Given the description of an element on the screen output the (x, y) to click on. 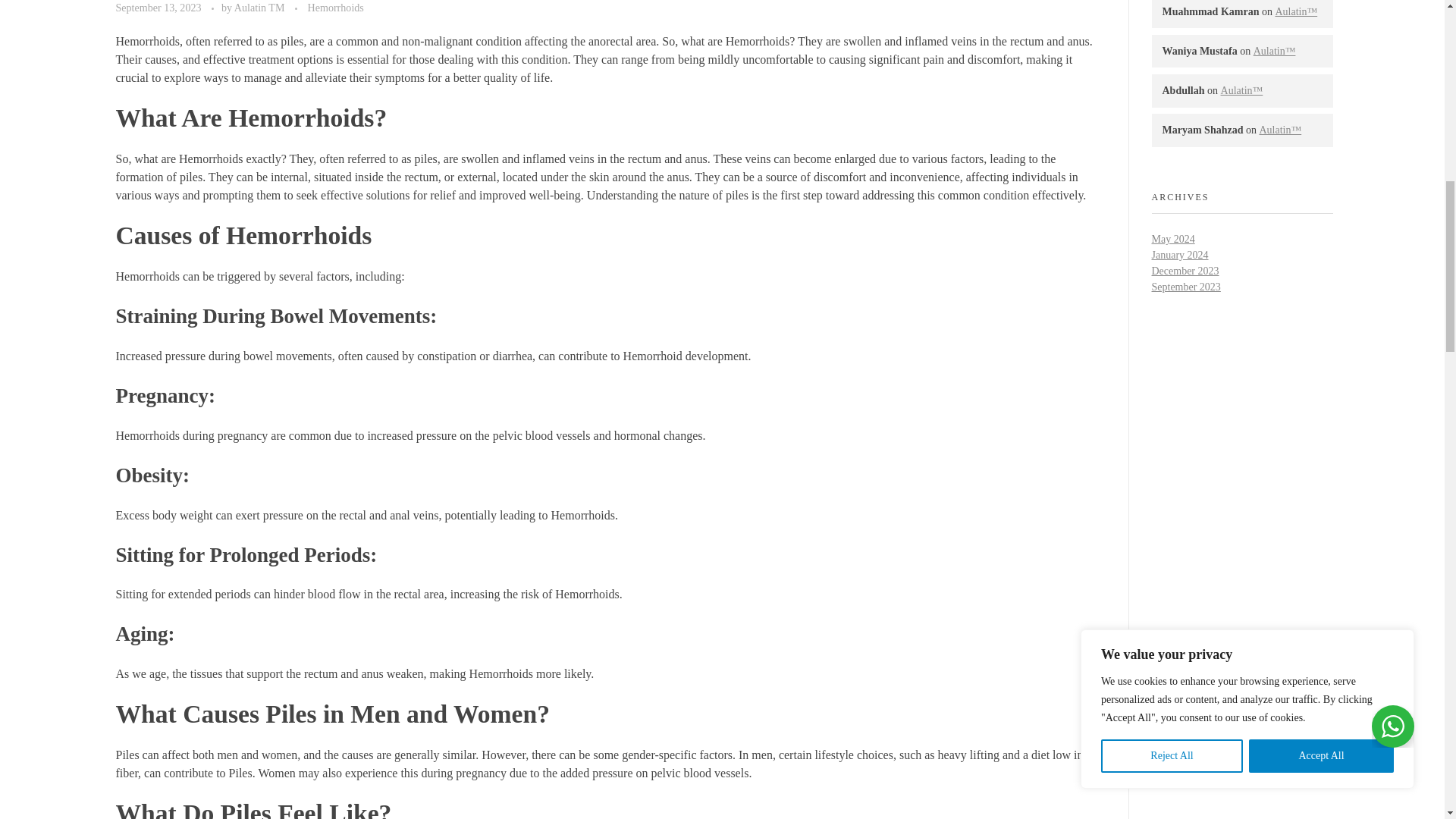
September 13, 2023 (159, 7)
View all posts in Hemorrhoids (335, 7)
Hemorrhoids (335, 7)
View all posts by Aulatin TM (260, 7)
Aulatin TM (260, 7)
